Given the description of an element on the screen output the (x, y) to click on. 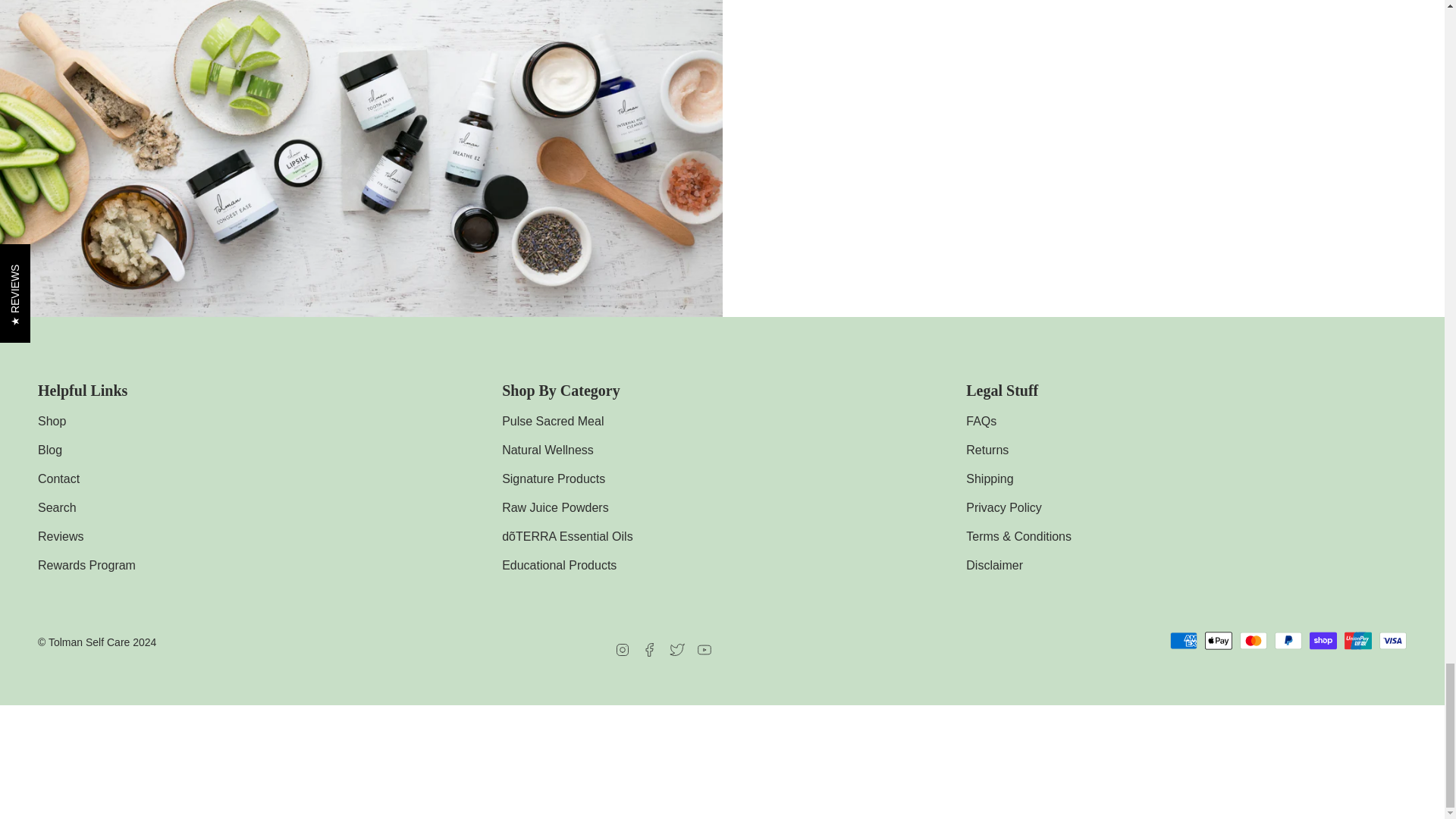
PayPal (1288, 640)
Shop Pay (1322, 640)
Apple Pay (1218, 640)
Tolman Self Care on Facebook (650, 649)
Tolman Self Care on Instagram (622, 649)
Mastercard (1253, 640)
Union Pay (1357, 640)
Visa (1392, 640)
Tolman Self Care on Twitter (676, 649)
American Express (1183, 640)
